Given the description of an element on the screen output the (x, y) to click on. 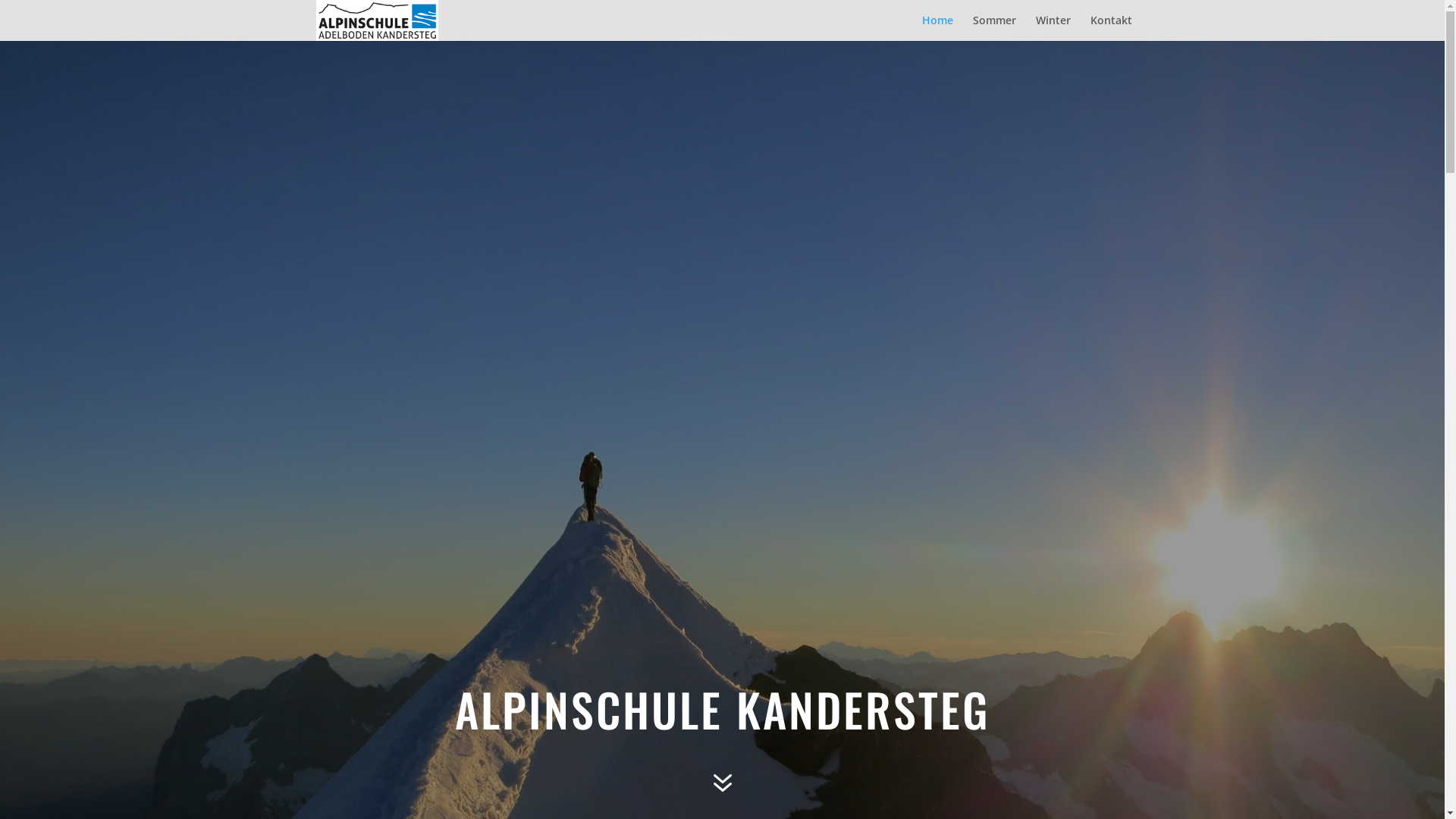
7 Element type: text (721, 783)
Kontakt Element type: text (1111, 27)
Winter Element type: text (1052, 27)
Sommer Element type: text (993, 27)
Home Element type: text (937, 27)
